Given the description of an element on the screen output the (x, y) to click on. 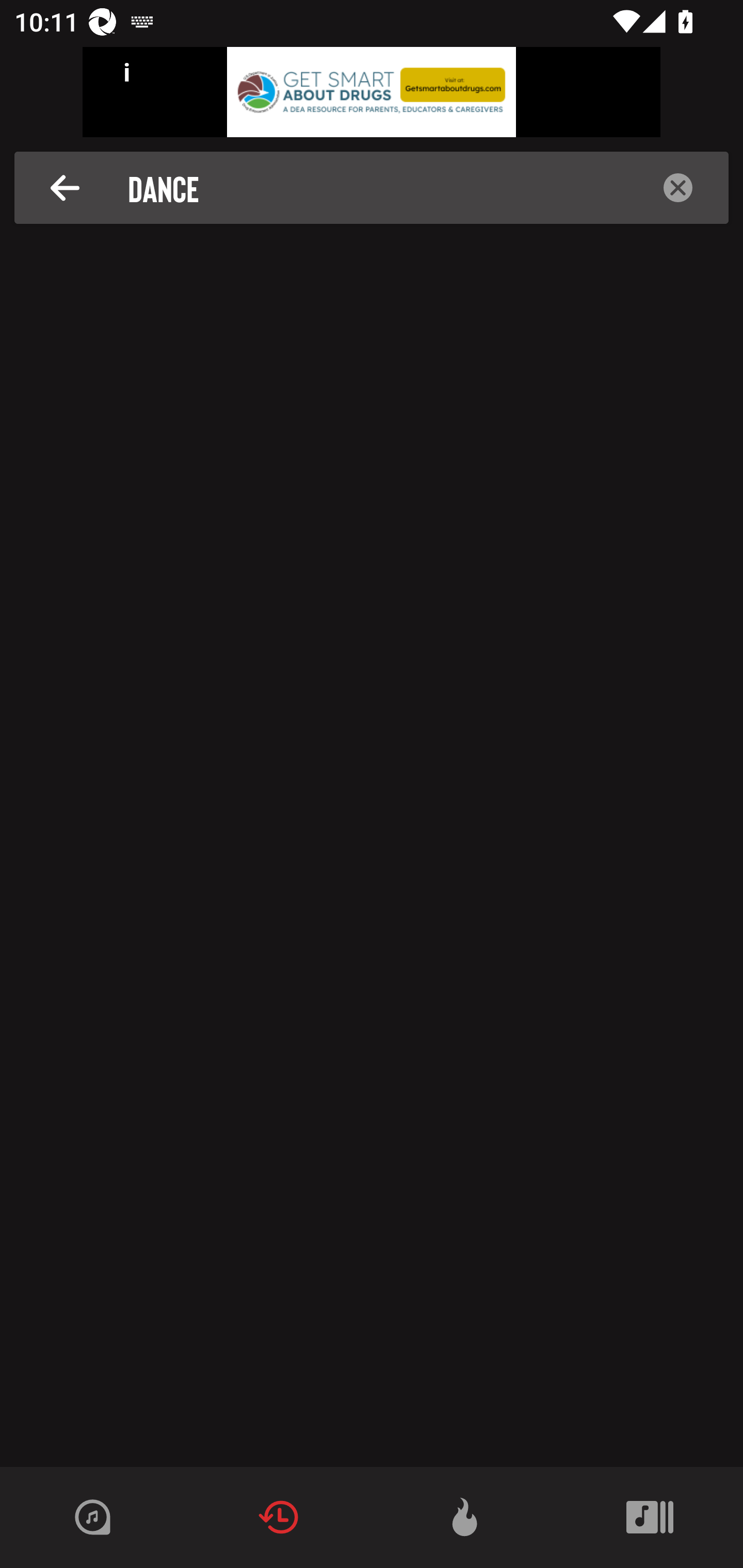
Dance (377, 188)
Description (64, 188)
Description (677, 188)
